Given the description of an element on the screen output the (x, y) to click on. 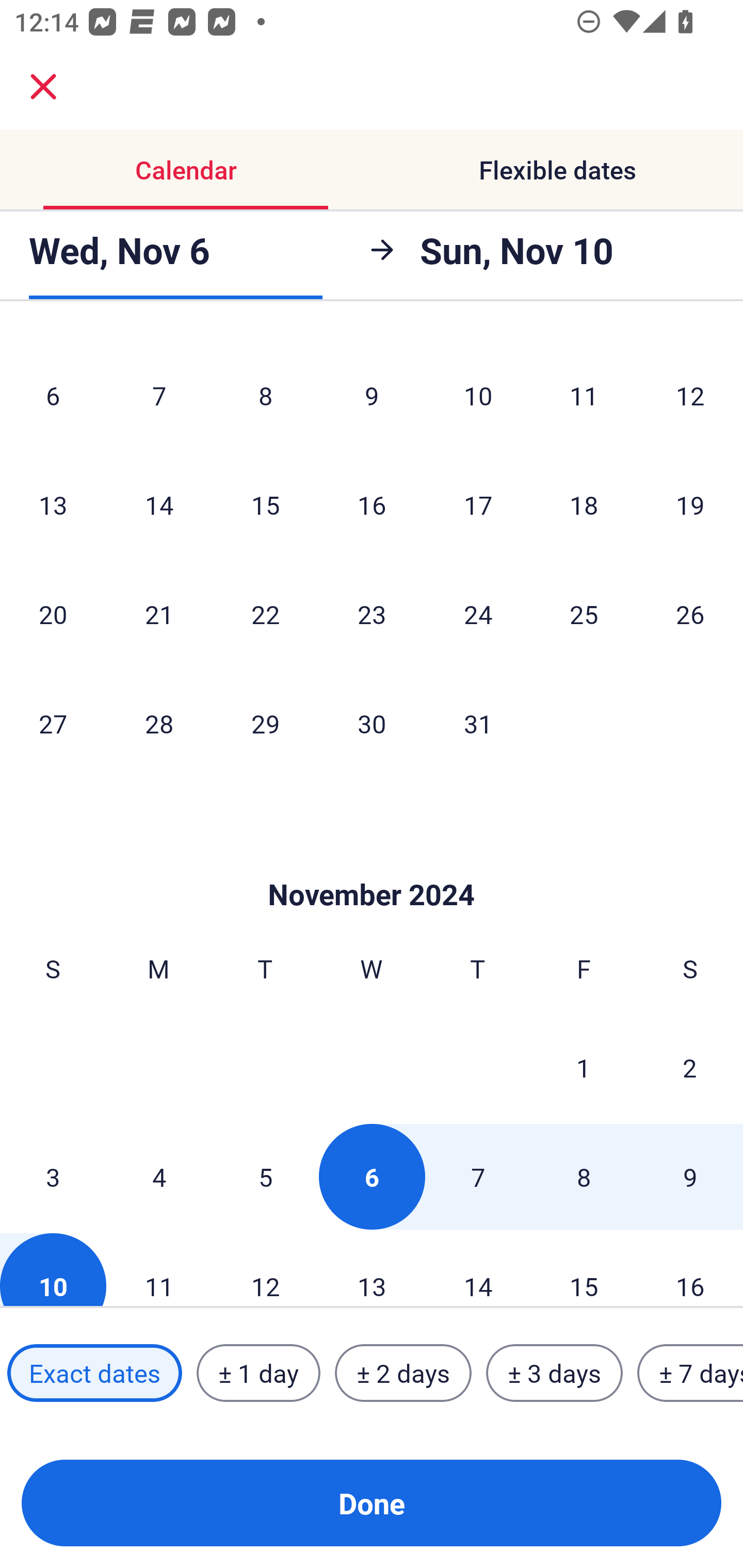
close. (43, 86)
Flexible dates (557, 170)
6 Sunday, October 6, 2024 (53, 394)
7 Monday, October 7, 2024 (159, 394)
8 Tuesday, October 8, 2024 (265, 394)
9 Wednesday, October 9, 2024 (371, 394)
10 Thursday, October 10, 2024 (477, 394)
11 Friday, October 11, 2024 (584, 394)
12 Saturday, October 12, 2024 (690, 394)
13 Sunday, October 13, 2024 (53, 504)
14 Monday, October 14, 2024 (159, 504)
15 Tuesday, October 15, 2024 (265, 504)
16 Wednesday, October 16, 2024 (371, 504)
17 Thursday, October 17, 2024 (477, 504)
18 Friday, October 18, 2024 (584, 504)
19 Saturday, October 19, 2024 (690, 504)
20 Sunday, October 20, 2024 (53, 613)
21 Monday, October 21, 2024 (159, 613)
22 Tuesday, October 22, 2024 (265, 613)
23 Wednesday, October 23, 2024 (371, 613)
24 Thursday, October 24, 2024 (477, 613)
25 Friday, October 25, 2024 (584, 613)
26 Saturday, October 26, 2024 (690, 613)
27 Sunday, October 27, 2024 (53, 723)
28 Monday, October 28, 2024 (159, 723)
29 Tuesday, October 29, 2024 (265, 723)
30 Wednesday, October 30, 2024 (371, 723)
31 Thursday, October 31, 2024 (477, 723)
Skip to Done (371, 863)
1 Friday, November 1, 2024 (583, 1066)
2 Saturday, November 2, 2024 (689, 1066)
3 Sunday, November 3, 2024 (53, 1176)
4 Monday, November 4, 2024 (159, 1176)
5 Tuesday, November 5, 2024 (265, 1176)
11 Monday, November 11, 2024 (159, 1270)
12 Tuesday, November 12, 2024 (265, 1270)
13 Wednesday, November 13, 2024 (371, 1270)
14 Thursday, November 14, 2024 (477, 1270)
15 Friday, November 15, 2024 (584, 1270)
16 Saturday, November 16, 2024 (690, 1270)
Exact dates (94, 1372)
± 1 day (258, 1372)
± 2 days (403, 1372)
± 3 days (553, 1372)
± 7 days (690, 1372)
Done (371, 1502)
